Given the description of an element on the screen output the (x, y) to click on. 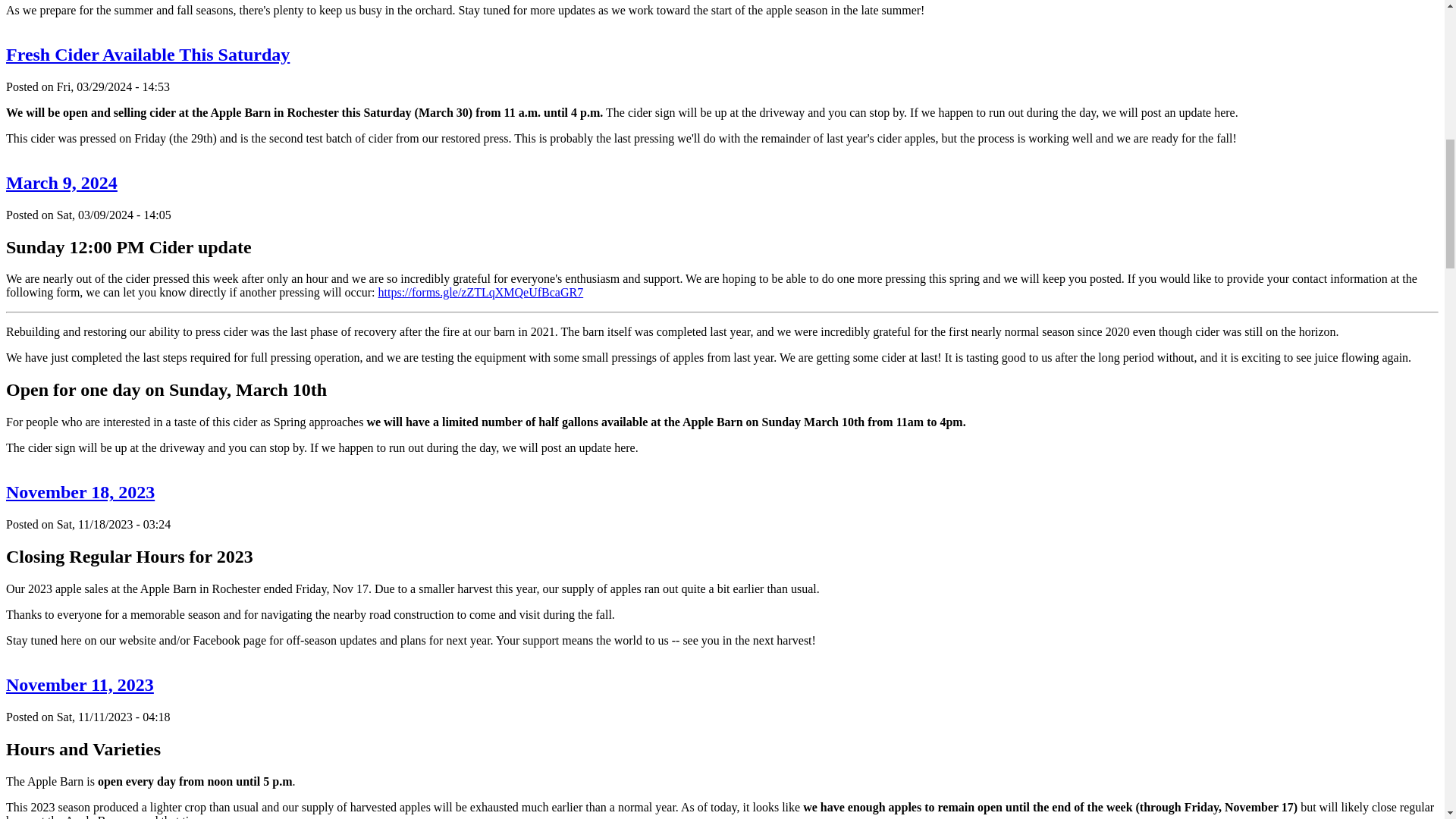
November 11, 2023 (79, 684)
Fresh Cider Available This Saturday (147, 54)
November 18, 2023 (79, 492)
March 9, 2024 (61, 182)
